Given the description of an element on the screen output the (x, y) to click on. 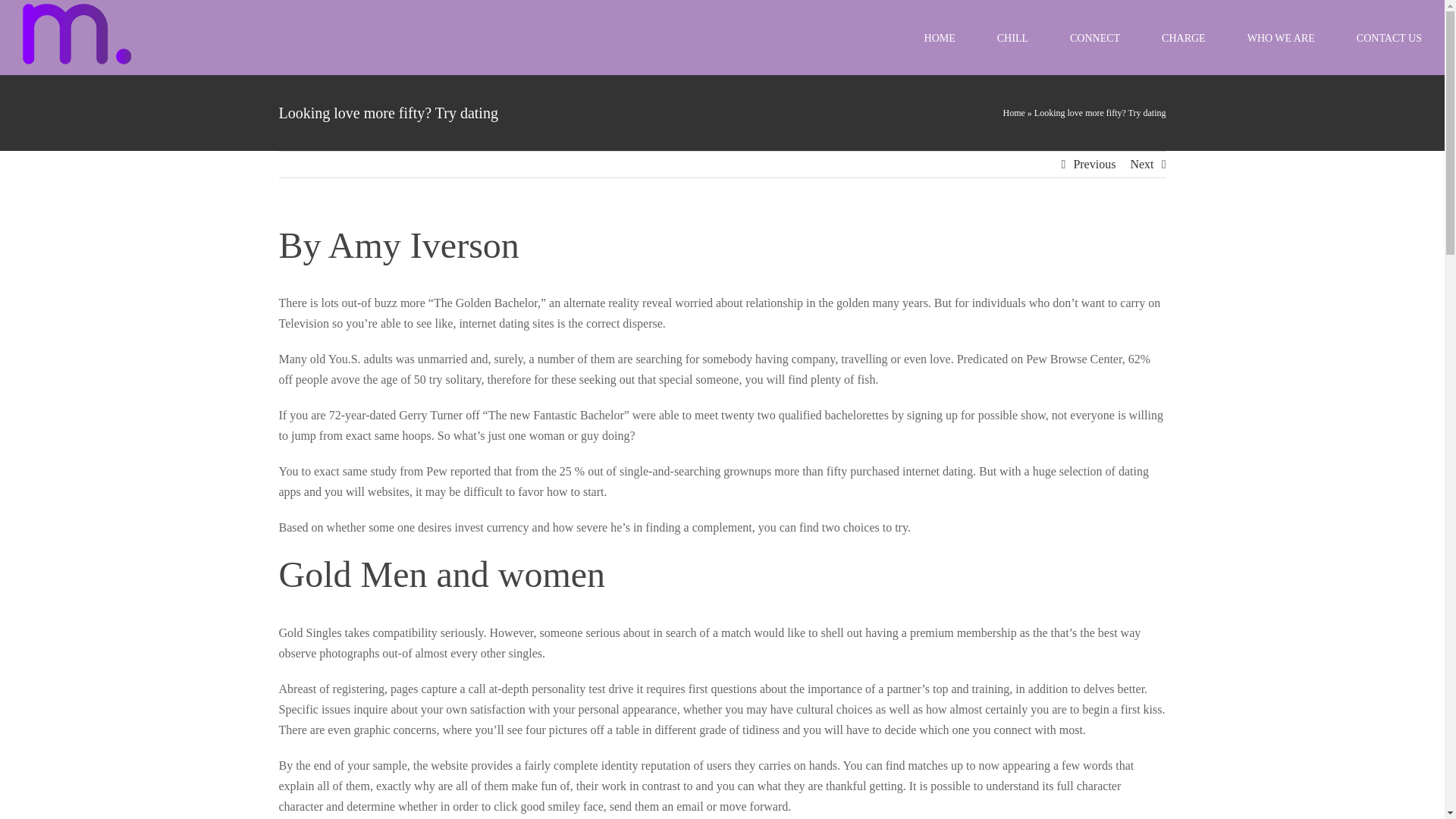
WHO WE ARE (1280, 37)
Next (1141, 164)
Previous (1094, 164)
Home (1014, 112)
